Given the description of an element on the screen output the (x, y) to click on. 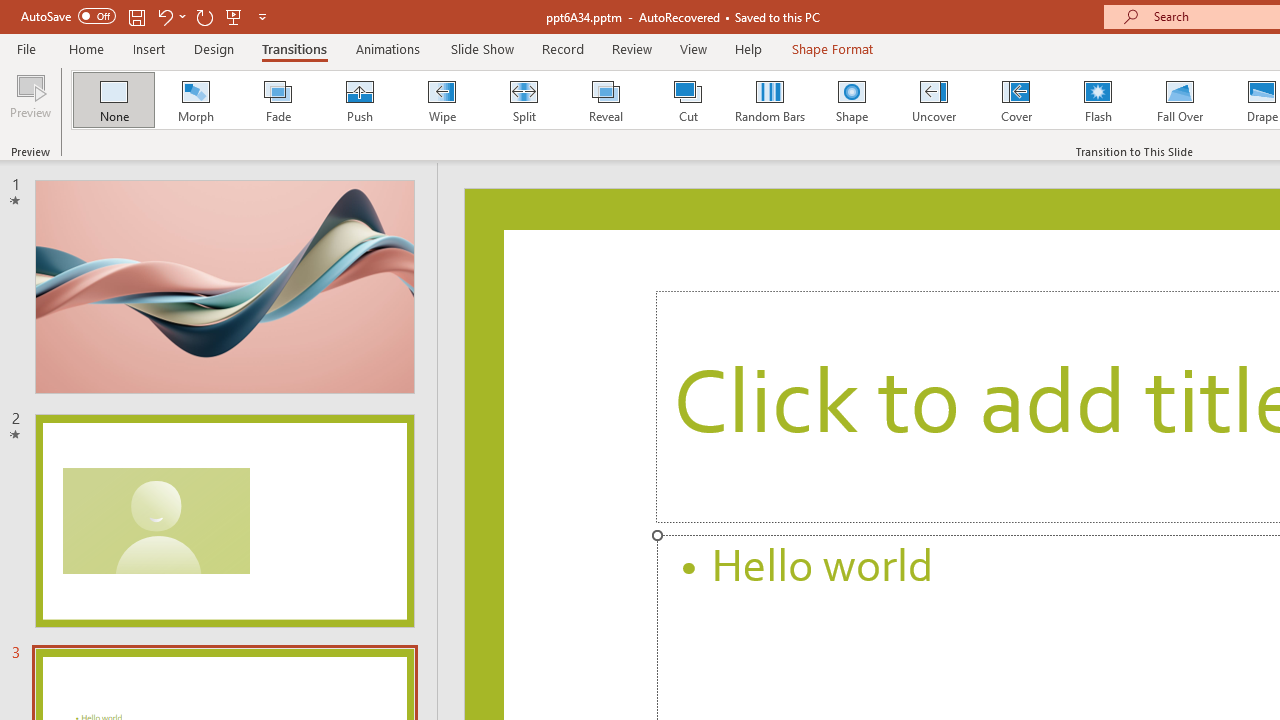
Morph (195, 100)
Push (359, 100)
Wipe (441, 100)
Fall Over (1180, 100)
